Given the description of an element on the screen output the (x, y) to click on. 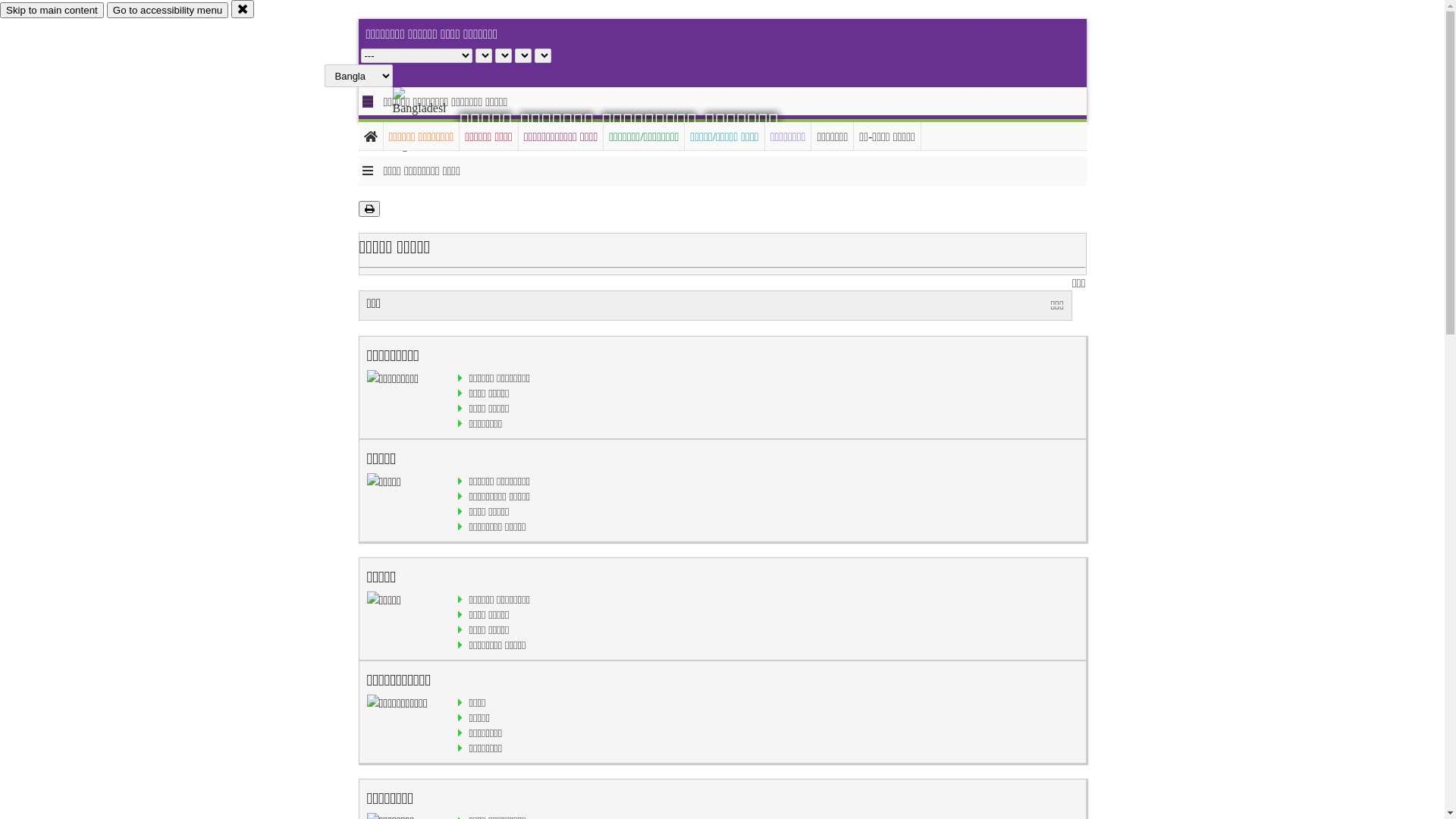
close Element type: hover (242, 9)
Skip to main content Element type: text (51, 10)

                
             Element type: hover (431, 120)
Go to accessibility menu Element type: text (167, 10)
